Given the description of an element on the screen output the (x, y) to click on. 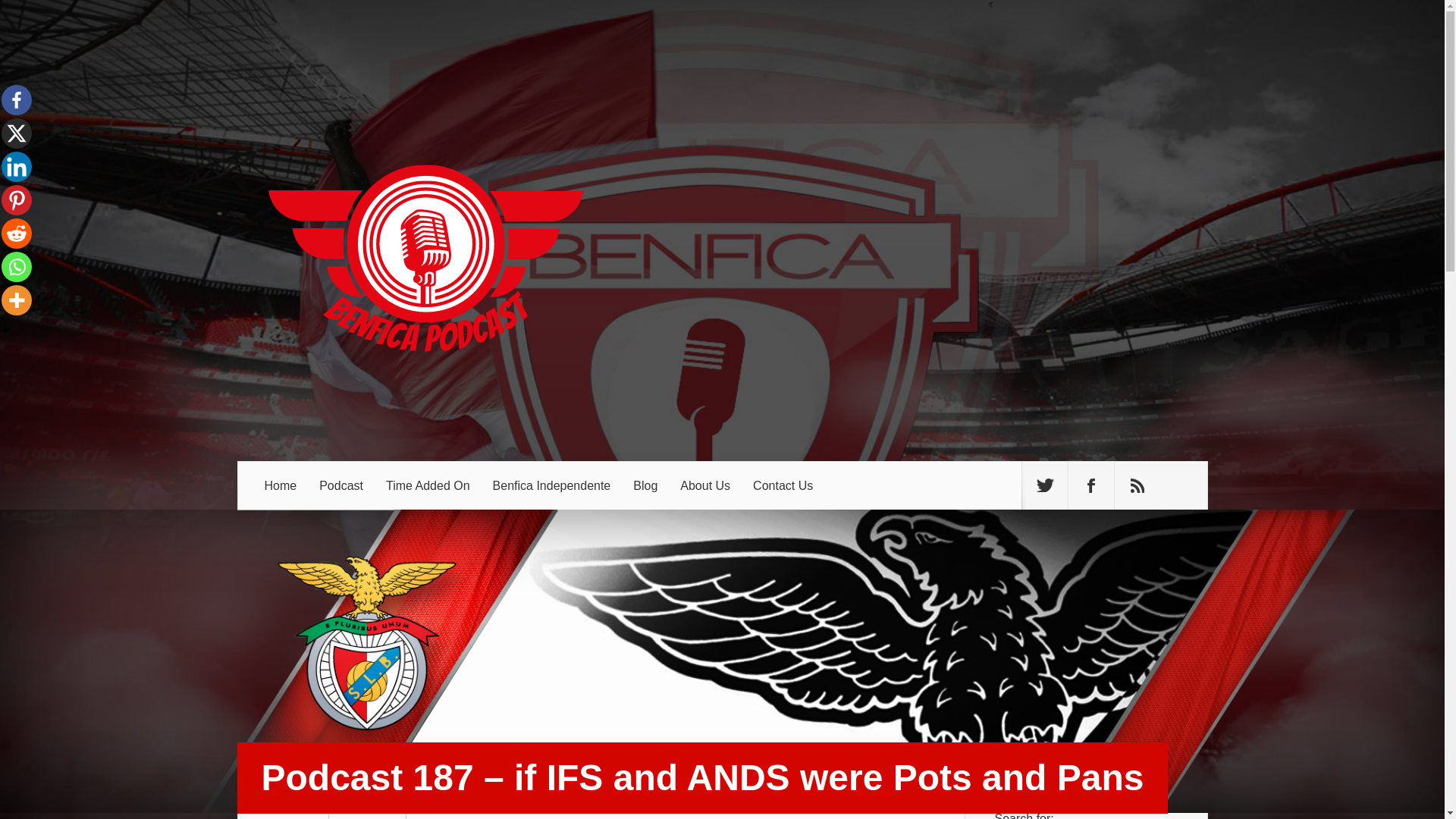
Time Added On (427, 485)
About Us (704, 485)
Benfica Independente (552, 485)
Subscribe To Rss Feed (1137, 485)
Follow us on Twitter (1044, 485)
Follow us on Facebook (1090, 485)
Home (280, 485)
Contact Us (782, 485)
Podcast (340, 485)
Blog (644, 485)
